Given the description of an element on the screen output the (x, y) to click on. 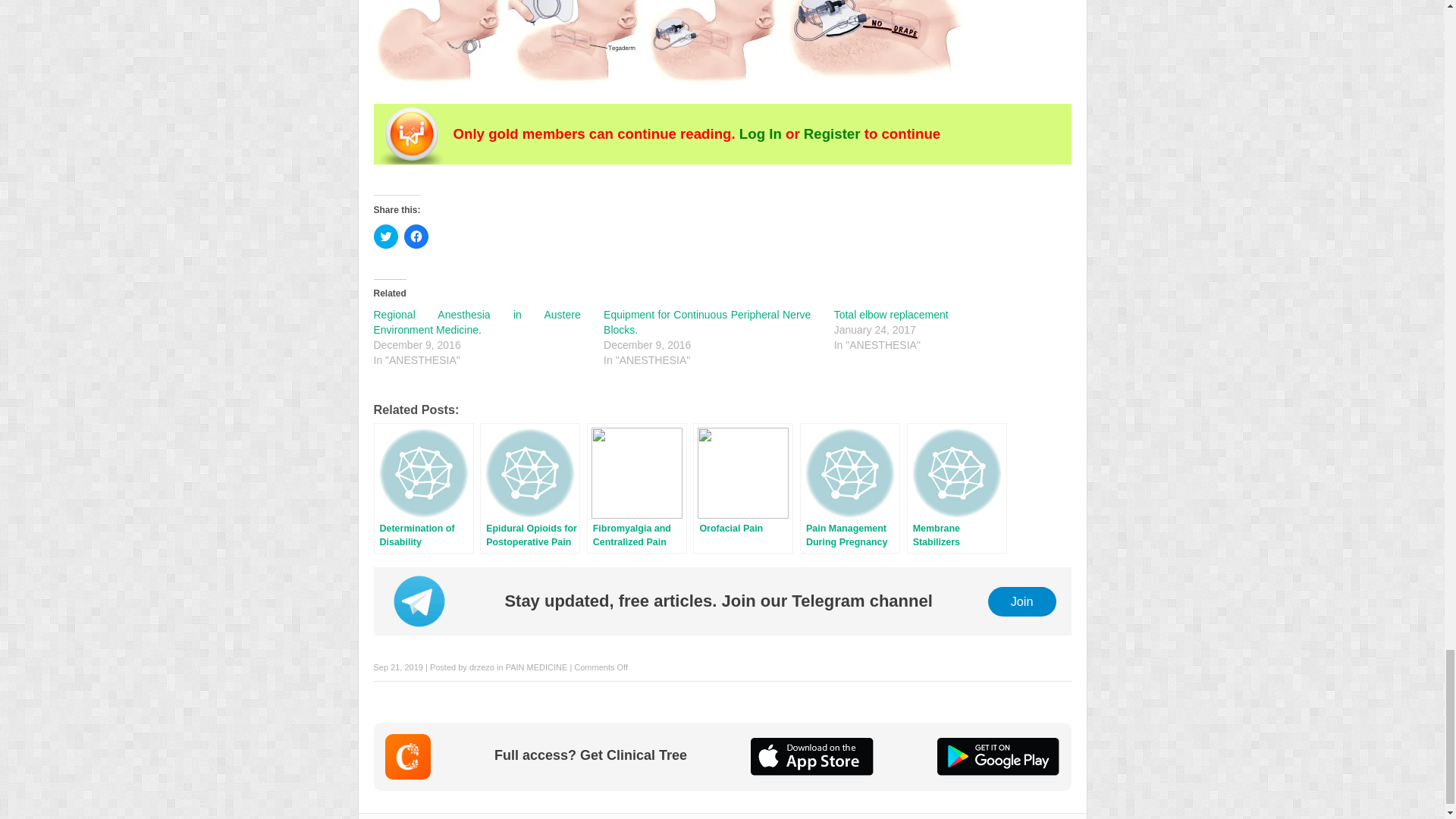
Posts by drzezo (481, 666)
Regional Anesthesia in Austere Environment Medicine. (475, 321)
Click to share on Twitter (384, 236)
Click to share on Facebook (415, 236)
Total elbow replacement (891, 314)
Equipment for Continuous Peripheral Nerve Blocks. (707, 321)
